Given the description of an element on the screen output the (x, y) to click on. 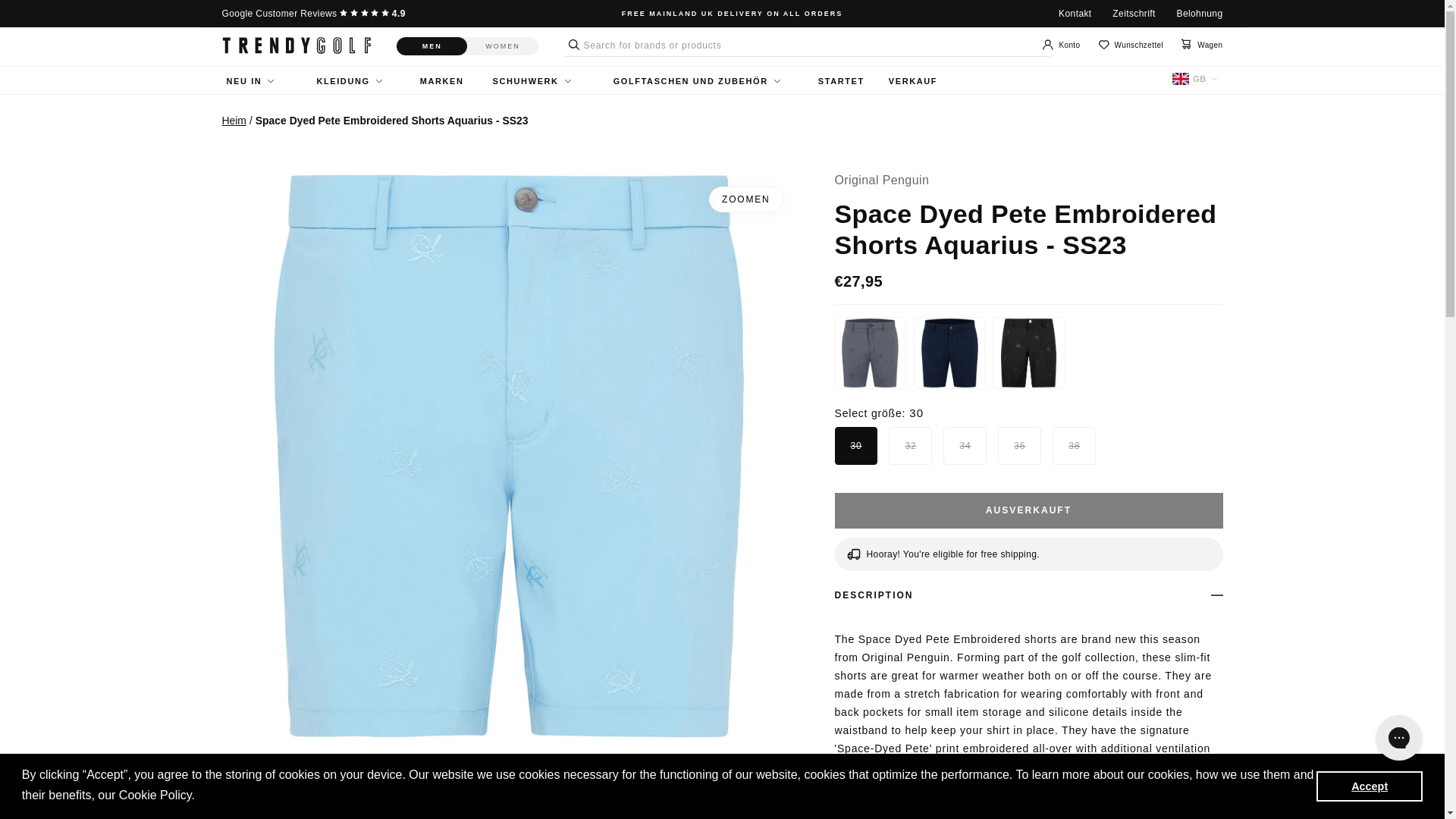
WOMEN (502, 45)
Wunschzettel (1131, 45)
Belohnung (1199, 13)
Accept (1369, 786)
32 (893, 445)
36 (1003, 445)
NEU IN (249, 81)
MEN (431, 45)
Google Customer Reviews 4.9 (312, 13)
Learn More (231, 794)
KLEIDUNG (348, 81)
30 (839, 445)
Wagen (1201, 44)
Zeitschrift (1133, 13)
Konto (1061, 45)
